Given the description of an element on the screen output the (x, y) to click on. 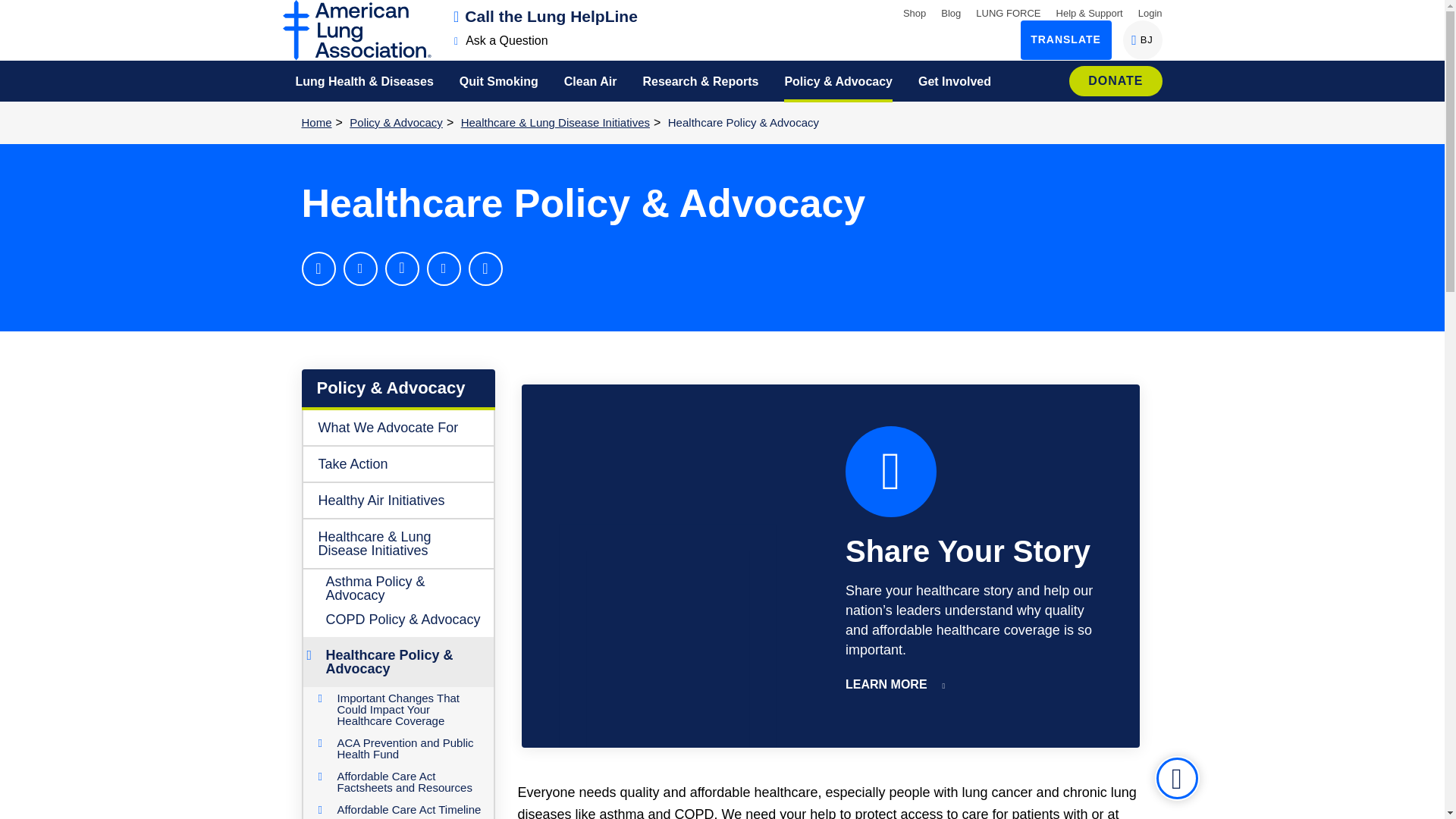
Ask a Question (1141, 39)
Login (501, 40)
TRANSLATE (1149, 13)
Call the Lung HelpLine (1066, 39)
Shop (545, 16)
SKIP TO MAIN CONTENT (914, 13)
Blog (18, 10)
LUNG FORCE (950, 13)
